Given the description of an element on the screen output the (x, y) to click on. 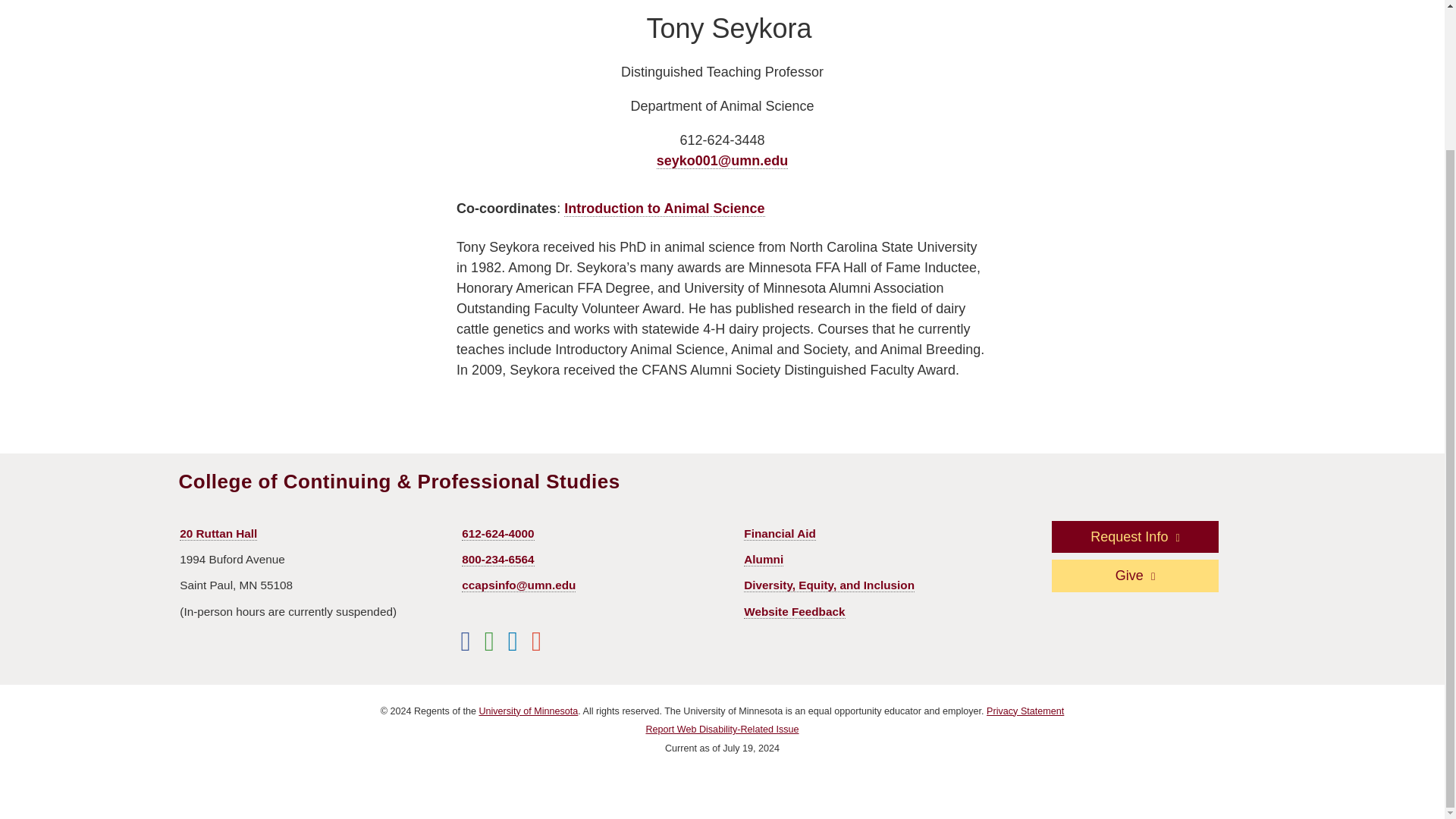
Call 612-624-4000 (497, 533)
Call 800-234-6564 (497, 559)
